Given the description of an element on the screen output the (x, y) to click on. 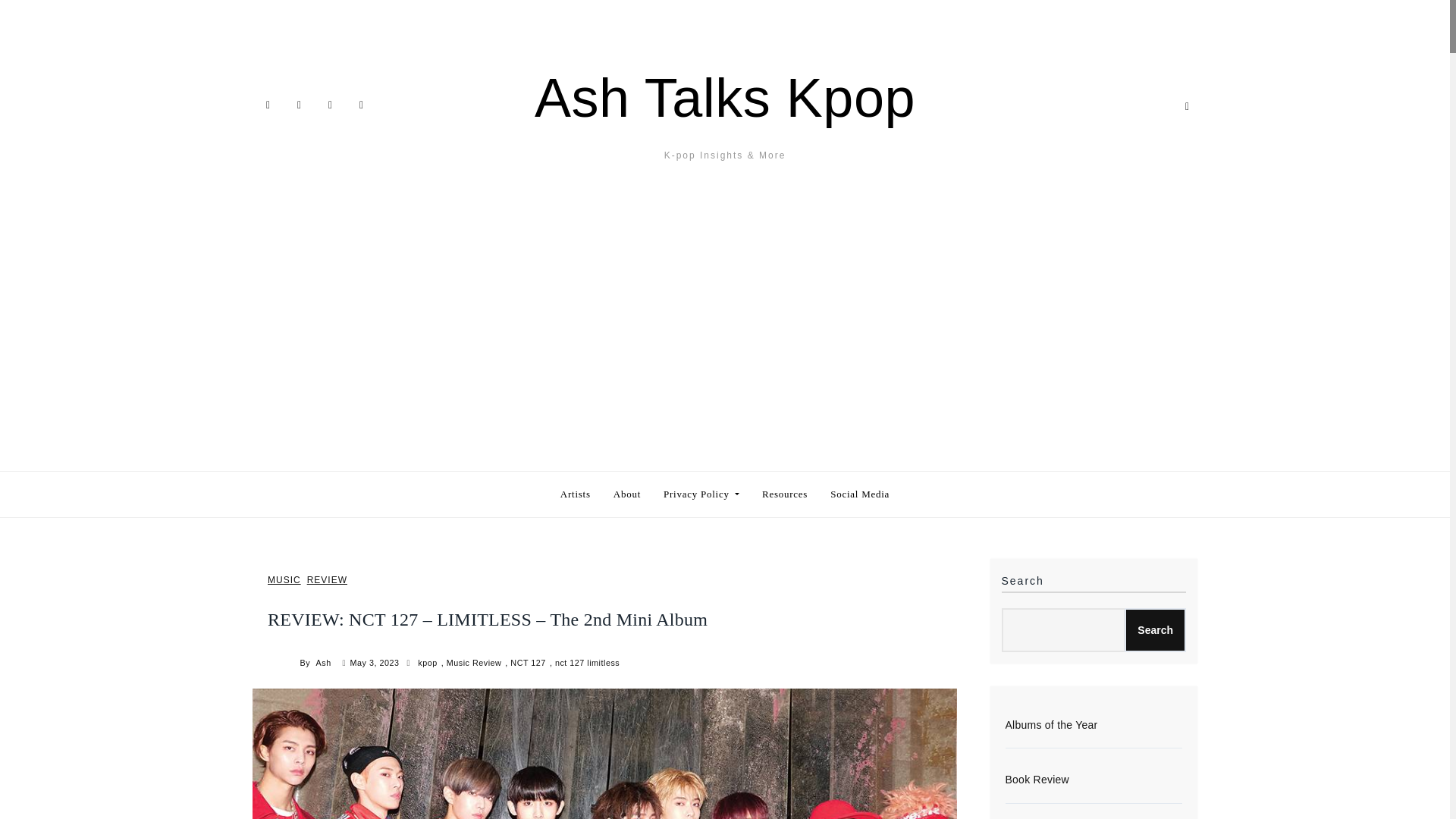
Resources (784, 493)
MUSIC (284, 580)
NCT 127 (530, 662)
Artists (575, 493)
nct 127 limitless (588, 662)
About (627, 493)
Privacy Policy (701, 493)
Ash (324, 662)
Resources (784, 493)
